Given the description of an element on the screen output the (x, y) to click on. 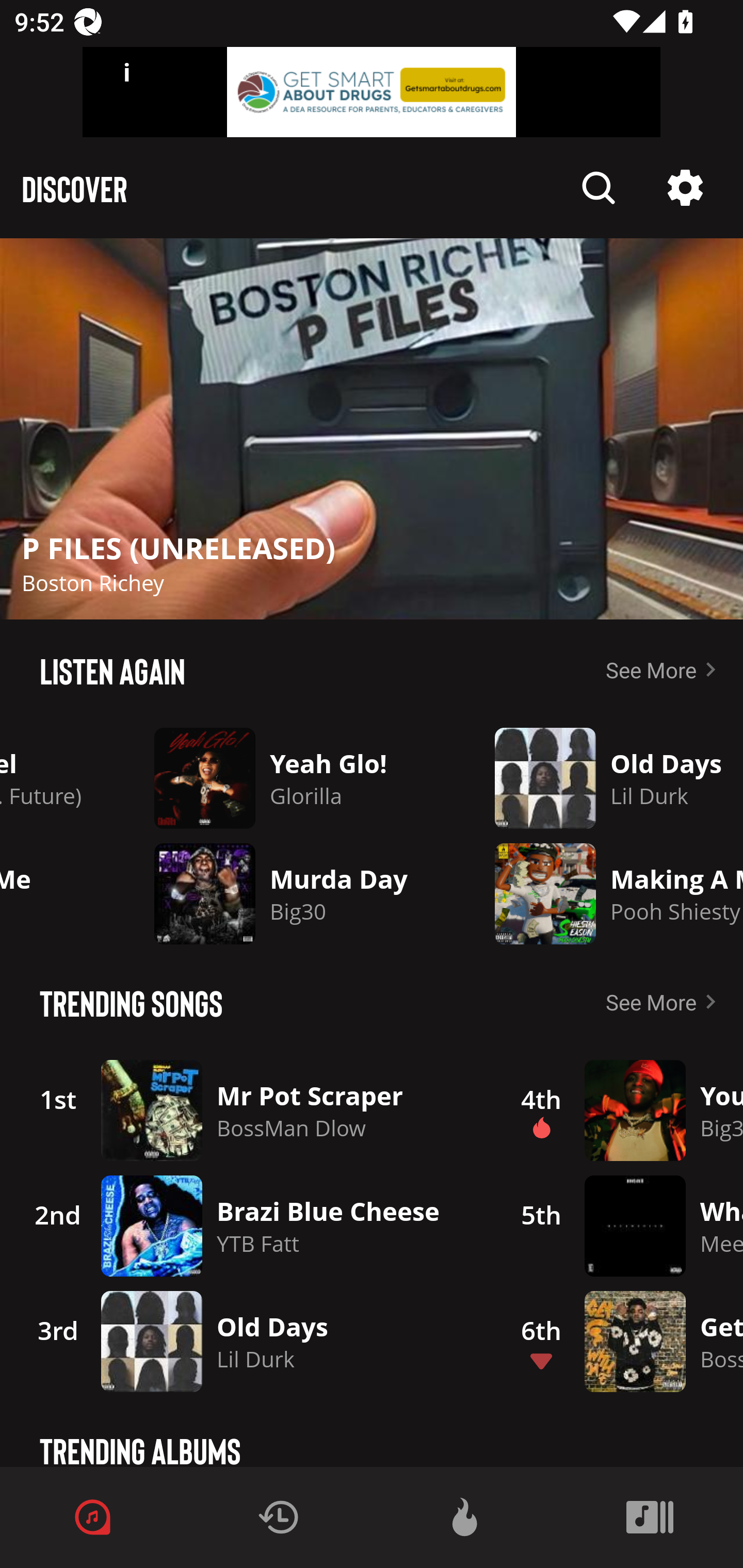
Description (598, 188)
Description (684, 188)
Description (371, 428)
See More (664, 669)
Description Yeah Glo! Glorilla (288, 778)
Description Old Days Lil Durk (604, 778)
Description Murda Day Big30 (288, 893)
See More (664, 1001)
1st Description Mr Pot Scraper BossMan Dlow (248, 1110)
4th Description Description You Thought Big30 (620, 1110)
2nd Description Brazi Blue Cheese YTB Fatt (248, 1226)
3rd Description Old Days Lil Durk (248, 1341)
